Given the description of an element on the screen output the (x, y) to click on. 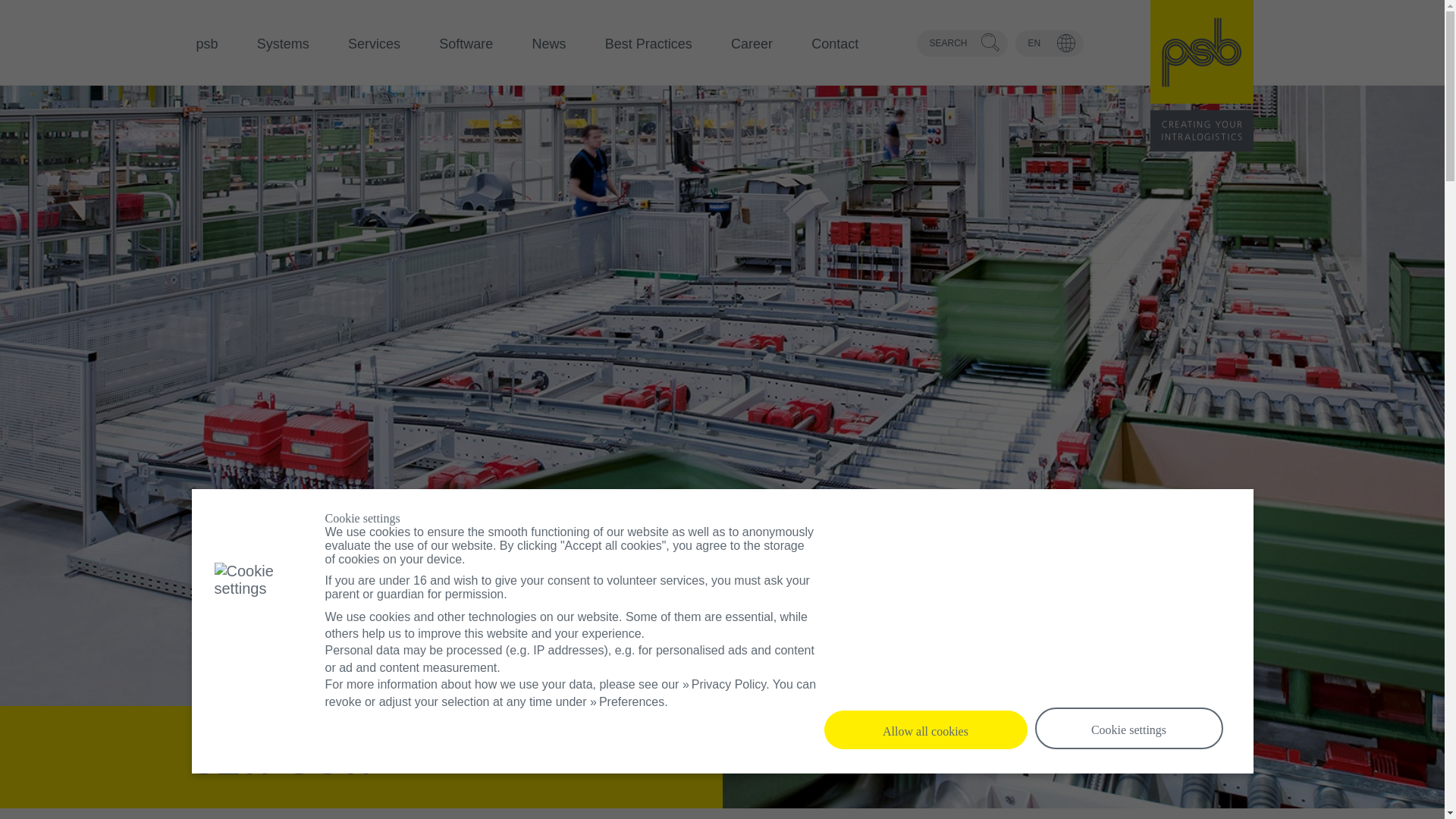
Services (373, 46)
psb (206, 46)
Search (991, 43)
Search (991, 43)
Systems (283, 46)
Search (991, 43)
